Given the description of an element on the screen output the (x, y) to click on. 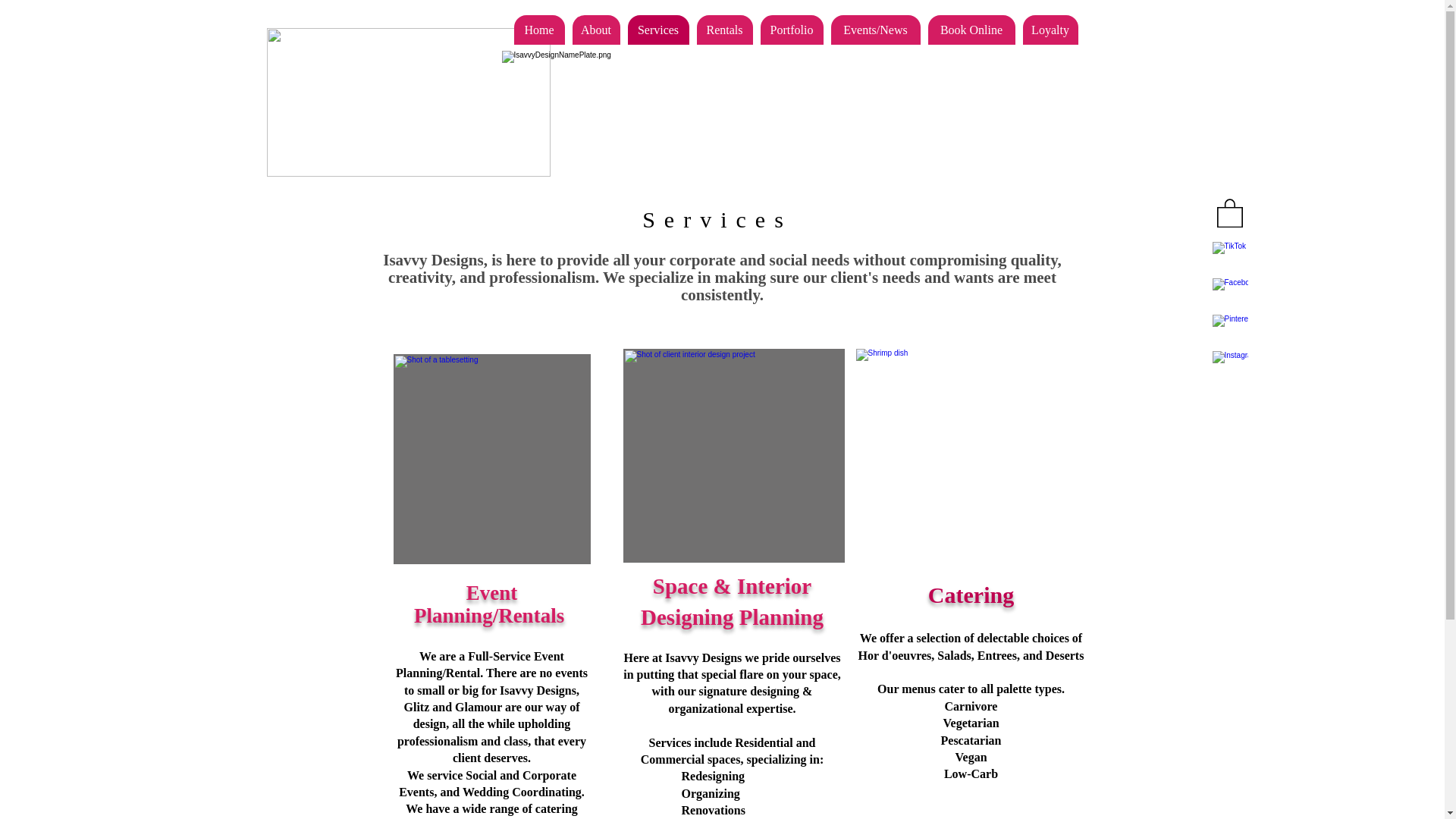
Rentals (723, 30)
logochair-blkpink.png (408, 101)
Home (538, 30)
Book Online (971, 30)
About (596, 30)
Loyalty (1049, 30)
Portfolio (791, 30)
Services (657, 30)
